Given the description of an element on the screen output the (x, y) to click on. 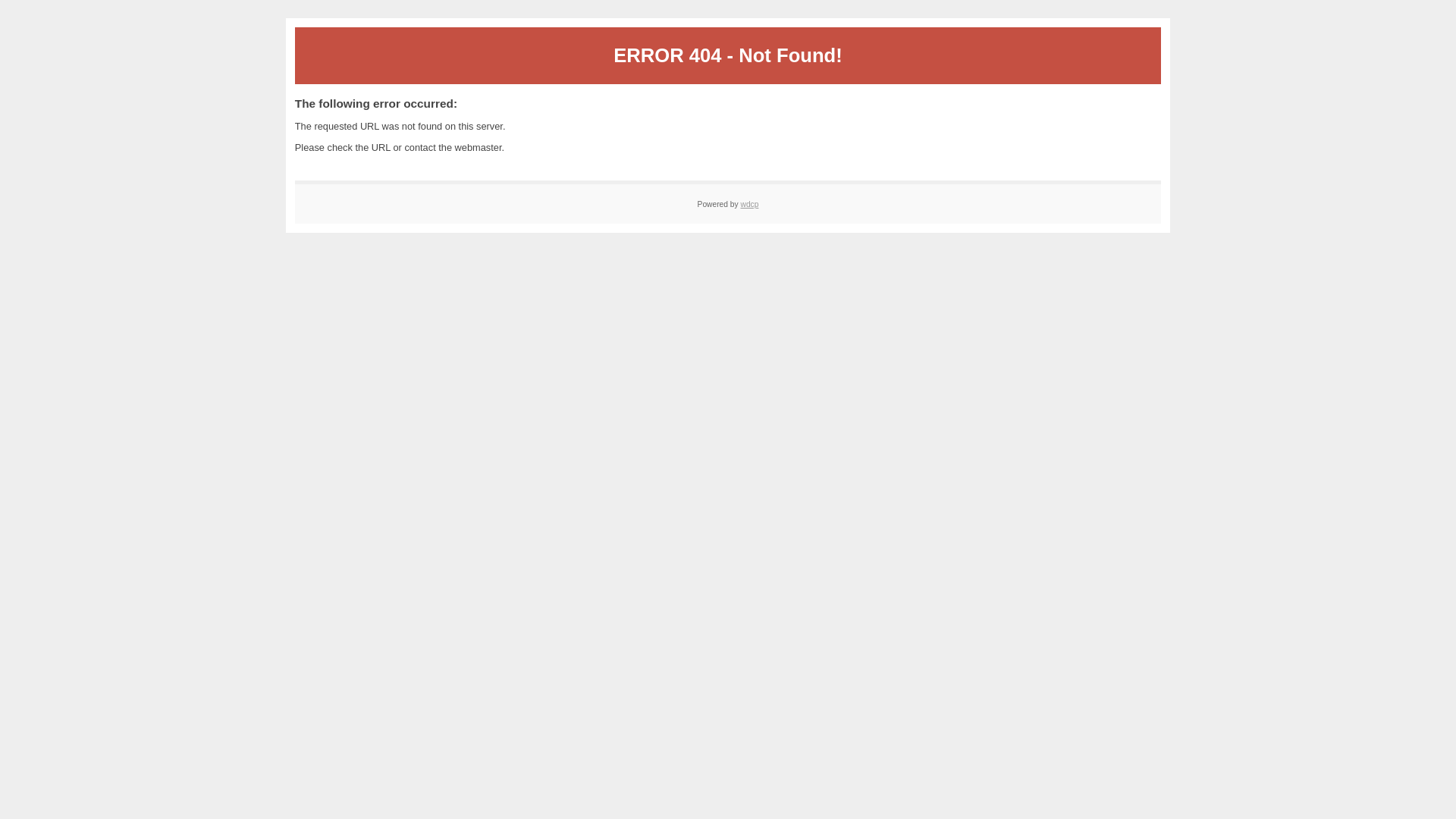
wdcp Element type: text (749, 204)
